Given the description of an element on the screen output the (x, y) to click on. 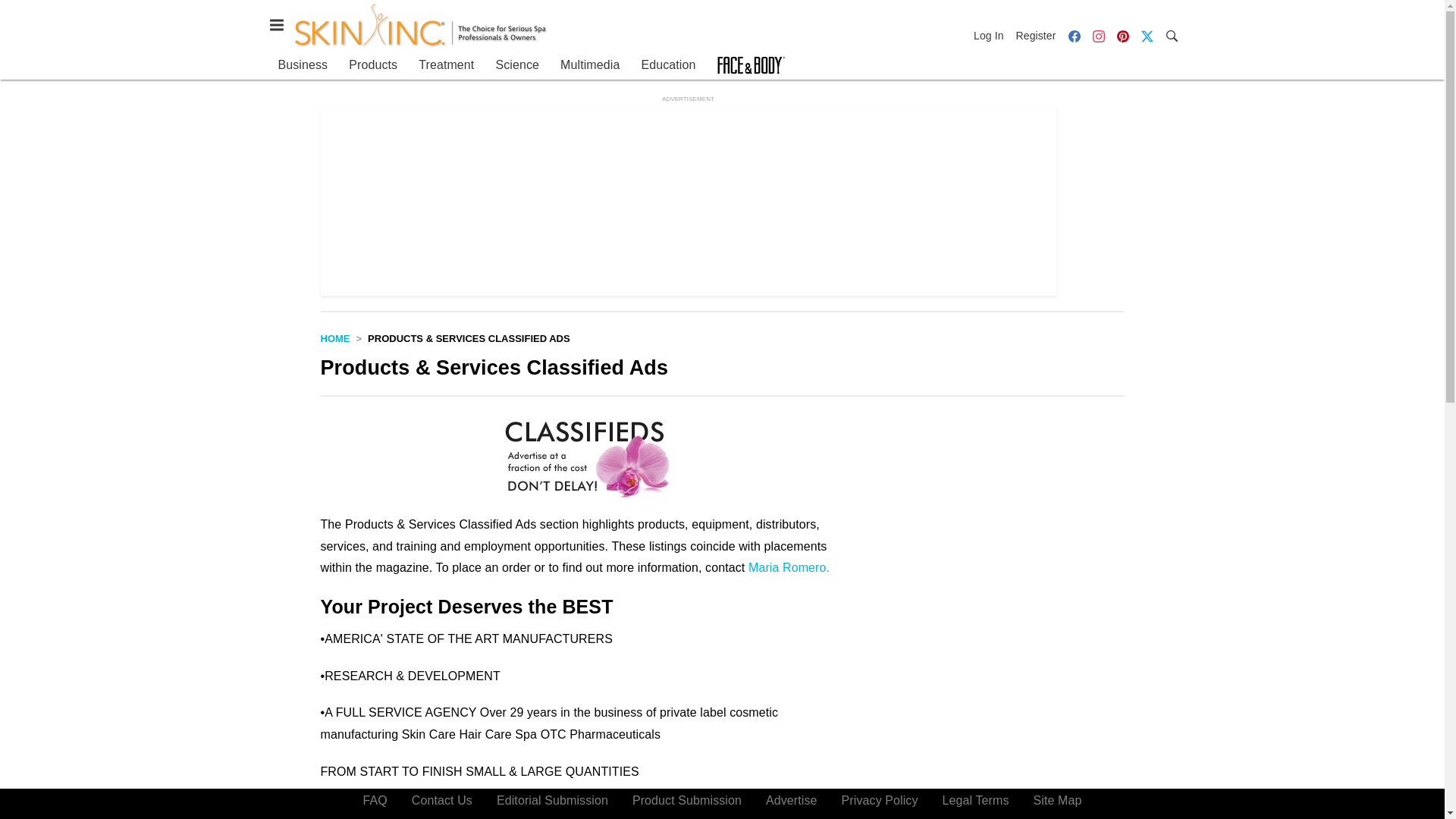
Treatment (446, 65)
Science (516, 65)
Instagram icon (1097, 35)
Facebook icon (1073, 36)
Multimedia (590, 65)
Business (302, 65)
Log In (992, 35)
Home (334, 337)
Twitter X icon (1146, 35)
Facebook icon (1073, 35)
Register (1036, 35)
Instagram icon (1097, 36)
Products (373, 65)
Twitter X icon (1146, 36)
Pinterest icon (1122, 36)
